Given the description of an element on the screen output the (x, y) to click on. 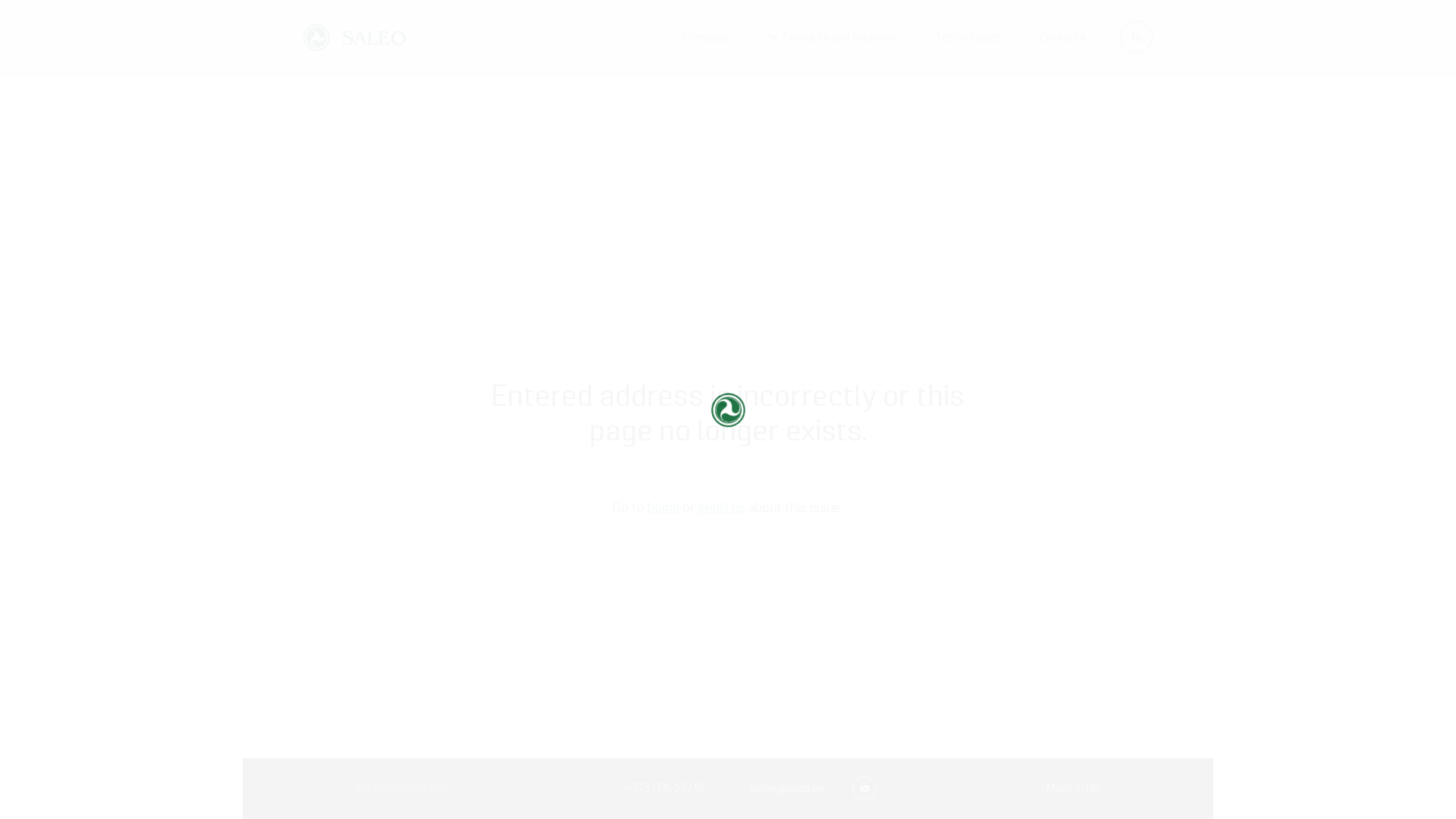
Technologies Element type: text (968, 37)
email us Element type: text (721, 506)
Contacts Element type: text (1062, 37)
Products and solutions Element type: text (839, 37)
home Element type: text (663, 506)
Company Element type: text (705, 37)
ru Element type: text (1136, 36)
